Given the description of an element on the screen output the (x, y) to click on. 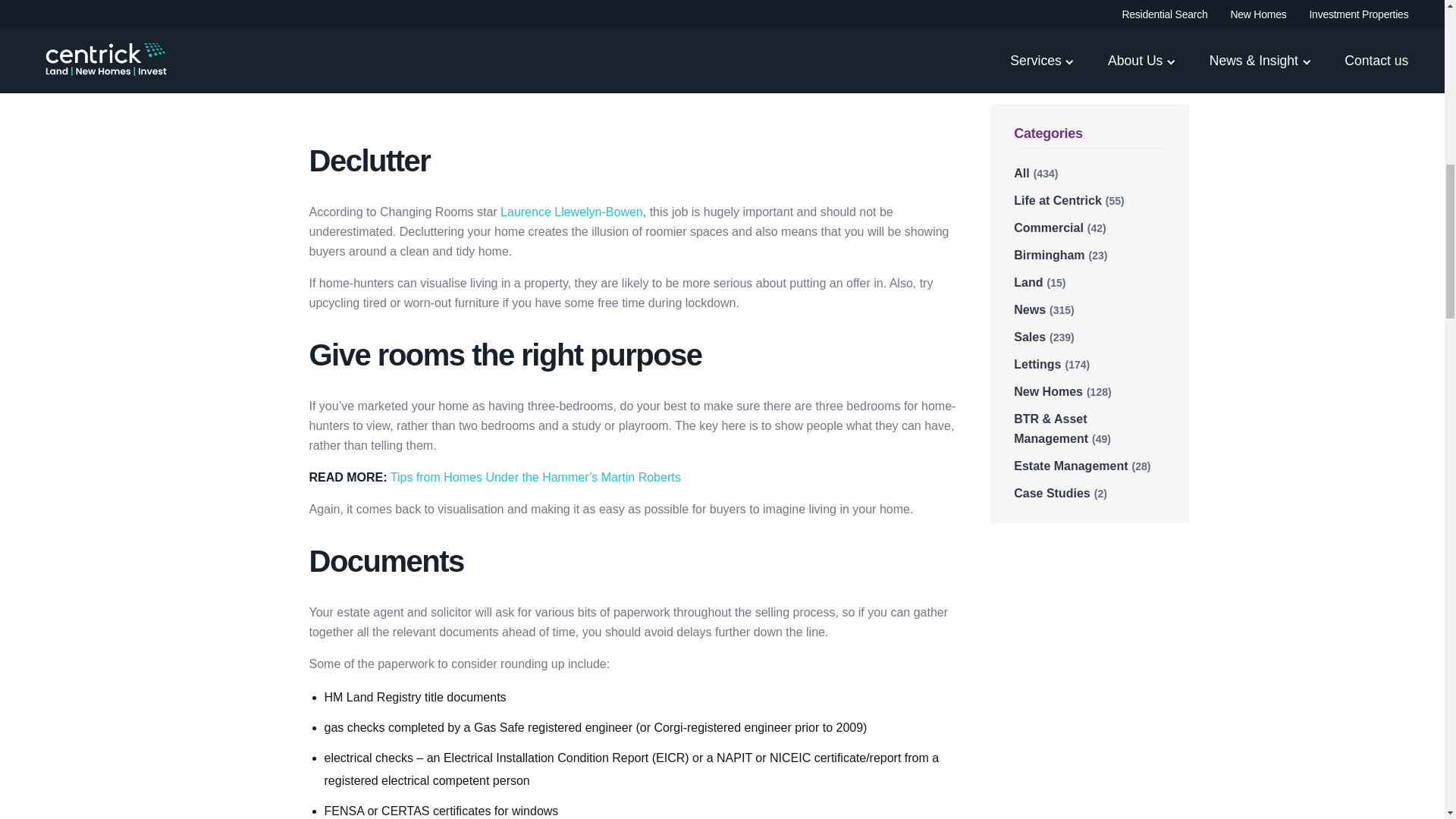
How to get your home ready to sell... (634, 59)
